Given the description of an element on the screen output the (x, y) to click on. 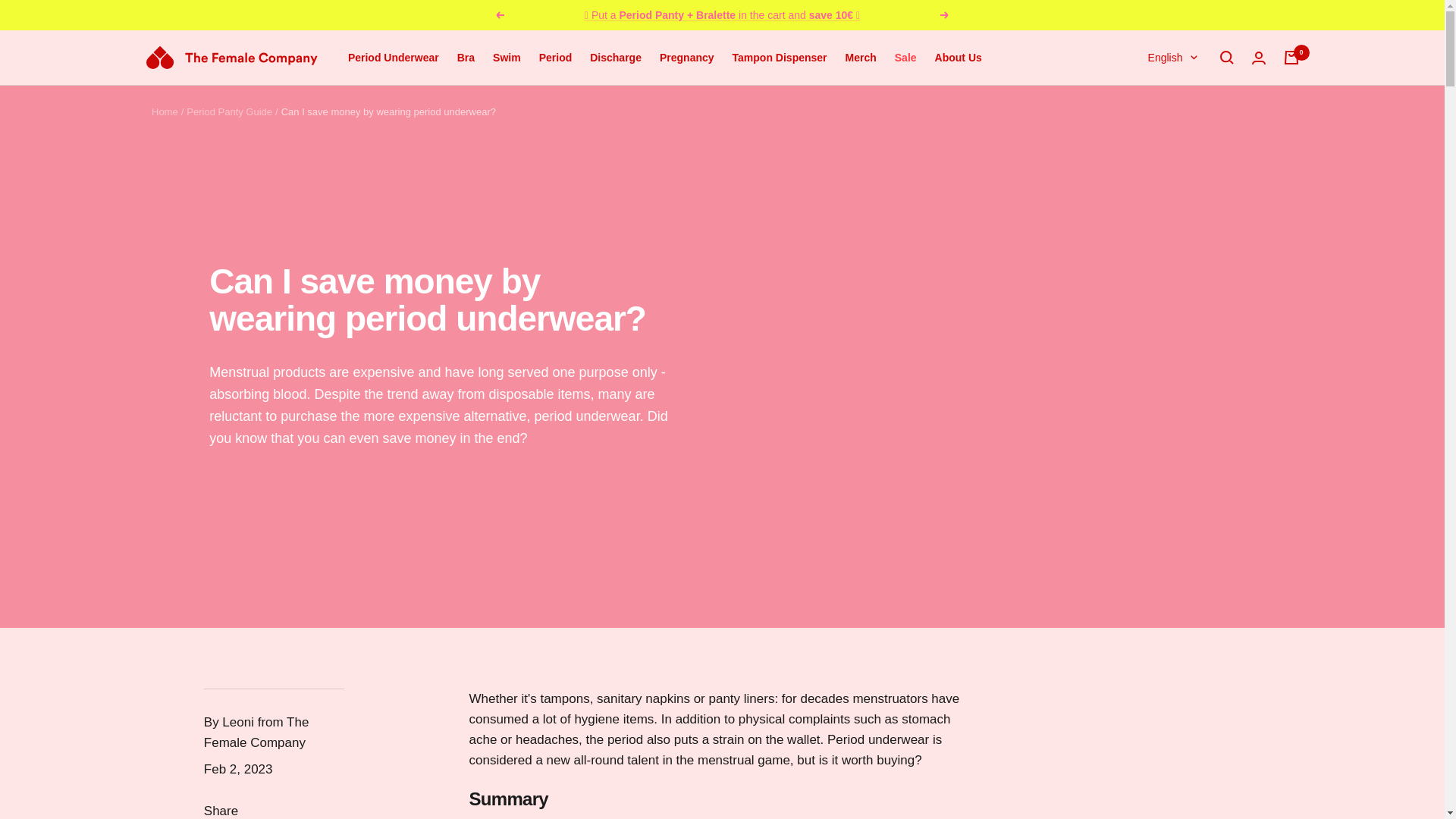
About Us (957, 57)
Period Underwear (393, 57)
Swim (507, 57)
Tampon Dispenser (779, 57)
Previous (499, 14)
Bra (465, 57)
Period (555, 57)
de (1163, 131)
Home (164, 111)
Period Panty Guide (229, 111)
Sale (906, 57)
Merch (860, 57)
en (1163, 108)
Pregnancy (686, 57)
English (1172, 57)
